Given the description of an element on the screen output the (x, y) to click on. 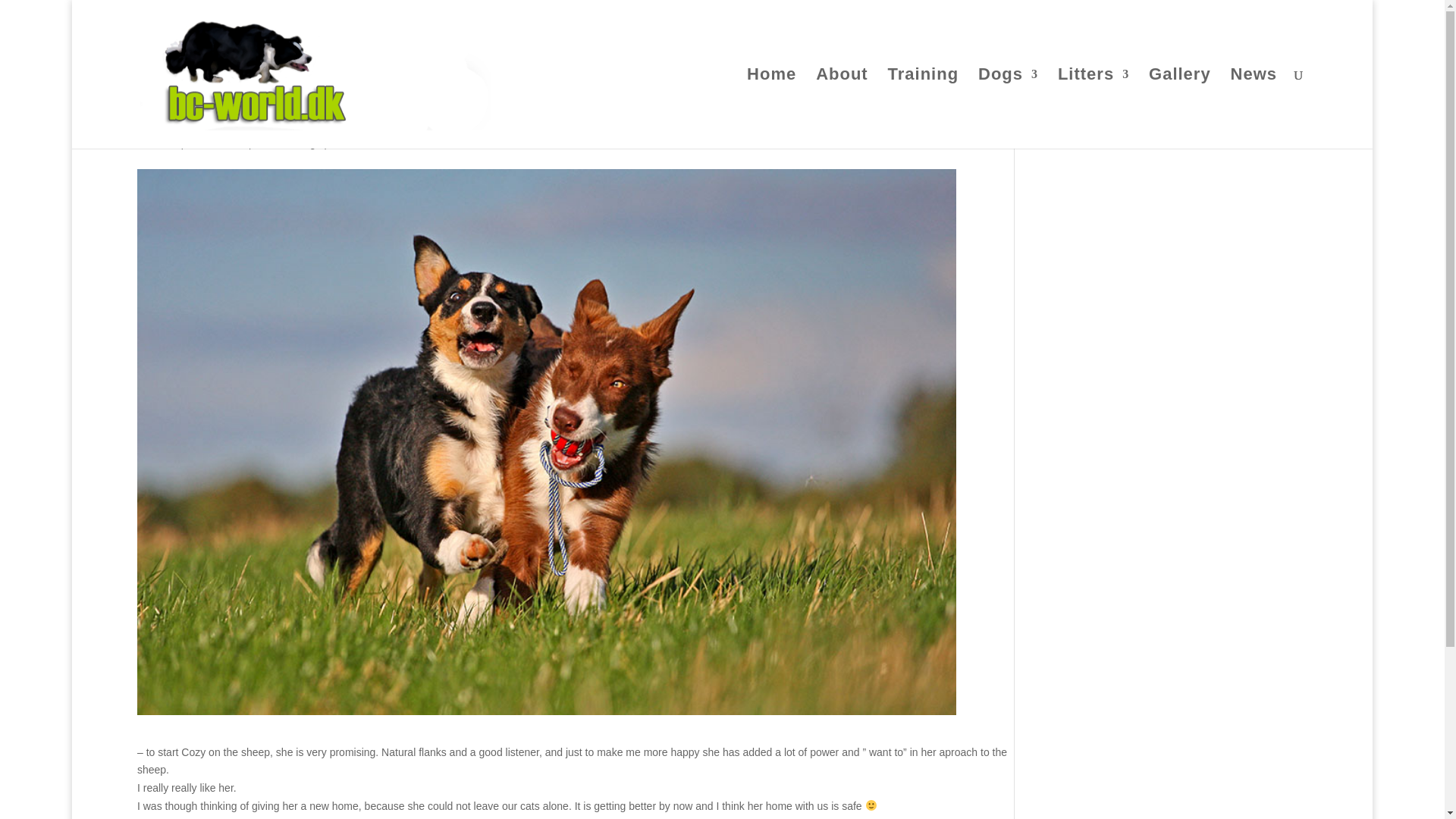
Litters (1093, 108)
Training (923, 108)
